Given the description of an element on the screen output the (x, y) to click on. 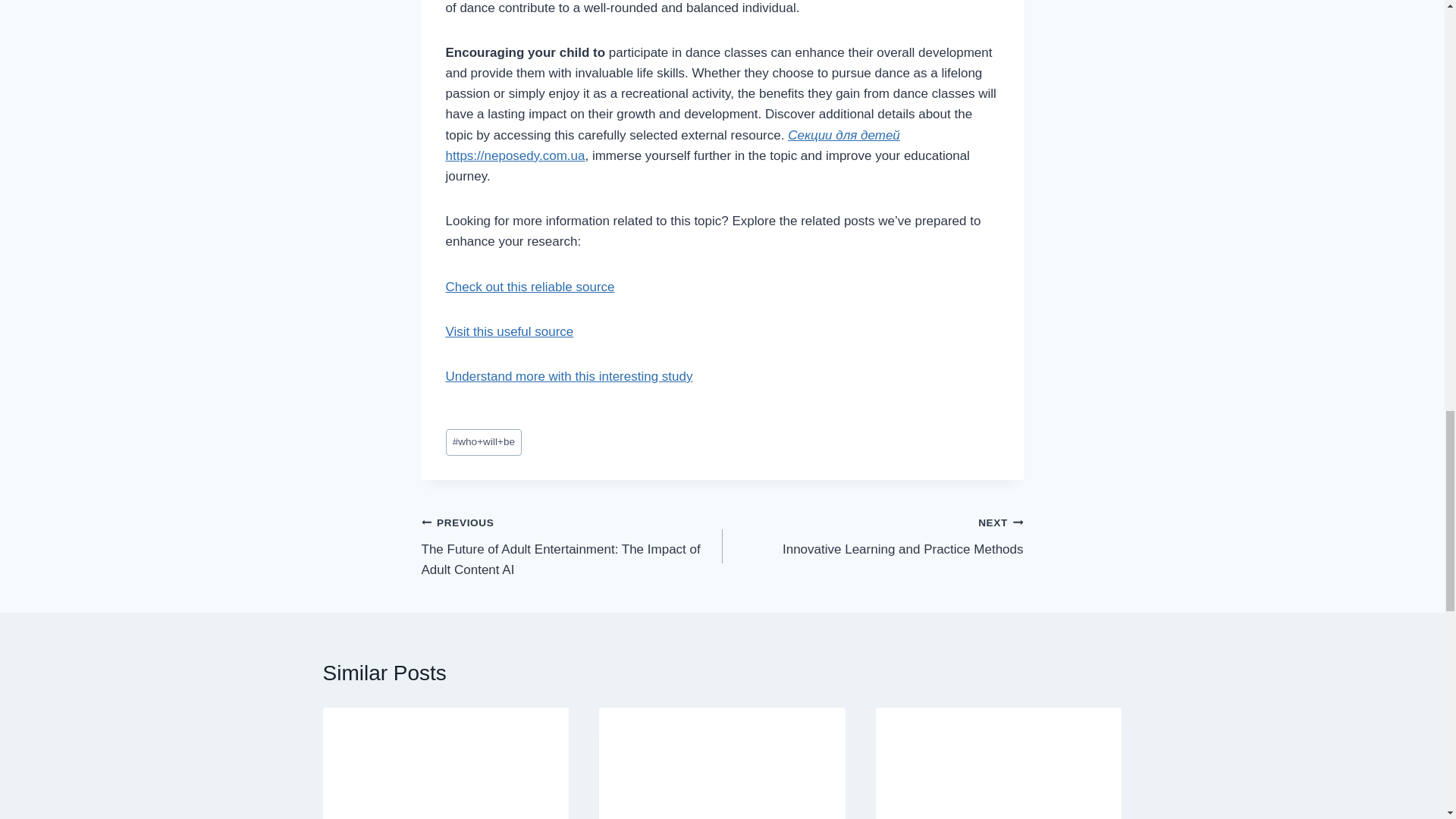
Visit this useful source (509, 331)
Understand more with this interesting study (569, 376)
Check out this reliable source (529, 287)
